Given the description of an element on the screen output the (x, y) to click on. 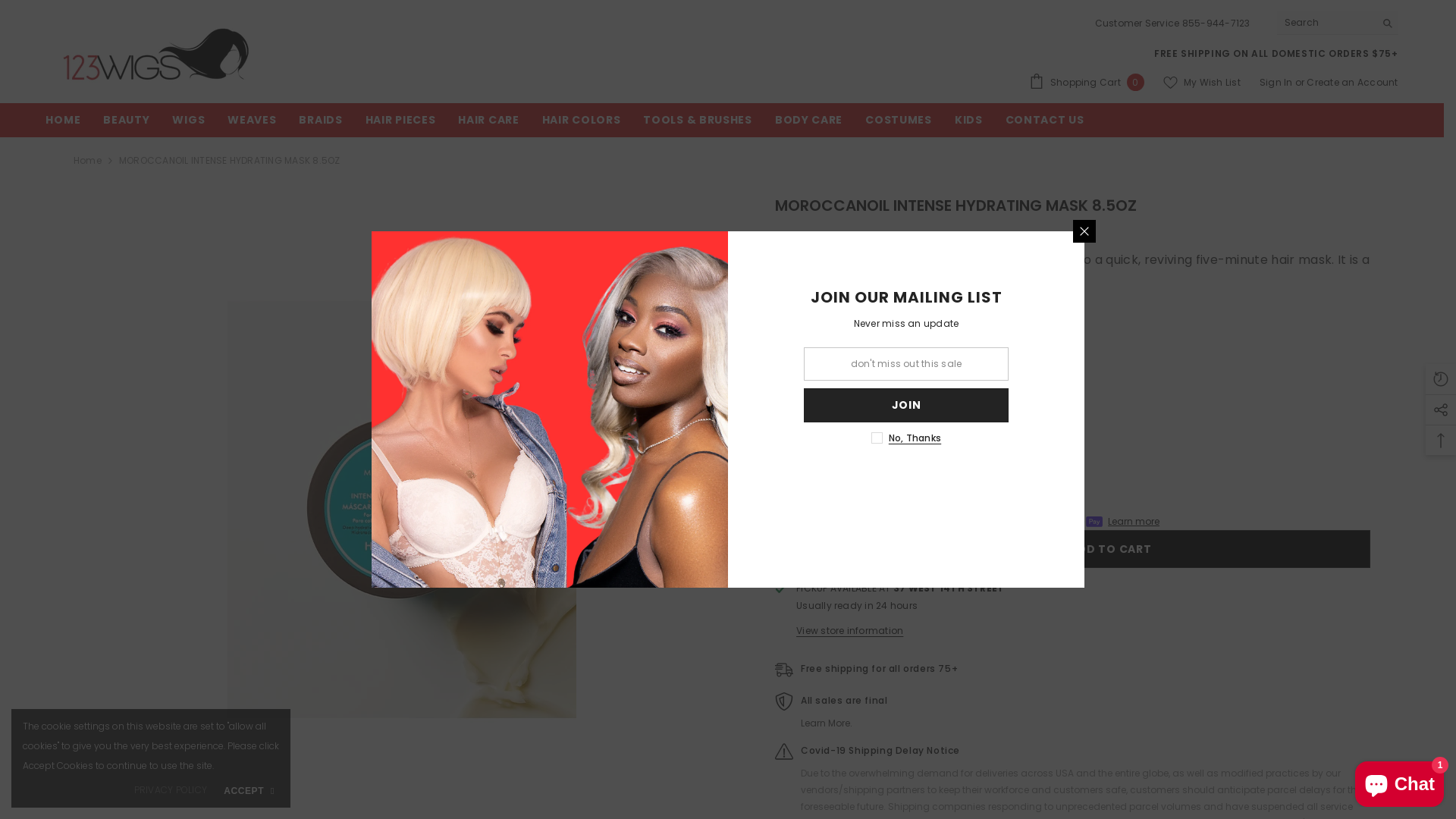
Create an Account Element type: text (1351, 81)
SHARE Element type: text (788, 549)
HAIR CARE Element type: text (488, 124)
Add to wishlist Element type: text (820, 548)
View store information Element type: text (849, 630)
Shopping Cart 0
0 items Element type: text (1086, 82)
KIDS Element type: text (968, 124)
COSTUMES Element type: text (898, 124)
BEAUTY Element type: text (125, 124)
ADD TO CART Element type: text (1107, 548)
Shopify online store chat Element type: hover (1399, 780)
PRIVACY POLICY Element type: text (170, 789)
WIGS Element type: text (188, 124)
My Wish List Element type: text (1201, 82)
HAIR PIECES Element type: text (400, 124)
JOIN Element type: text (905, 405)
WEAVES Element type: text (251, 124)
HOME Element type: text (62, 124)
TOOLS & BRUSHES Element type: text (697, 124)
BRAIDS Element type: text (320, 124)
Sign In Element type: text (1277, 81)
BODY CARE Element type: text (808, 124)
Home Element type: text (87, 160)
HAIR COLORS Element type: text (581, 124)
CONTACT US Element type: text (1044, 124)
